Given the description of an element on the screen output the (x, y) to click on. 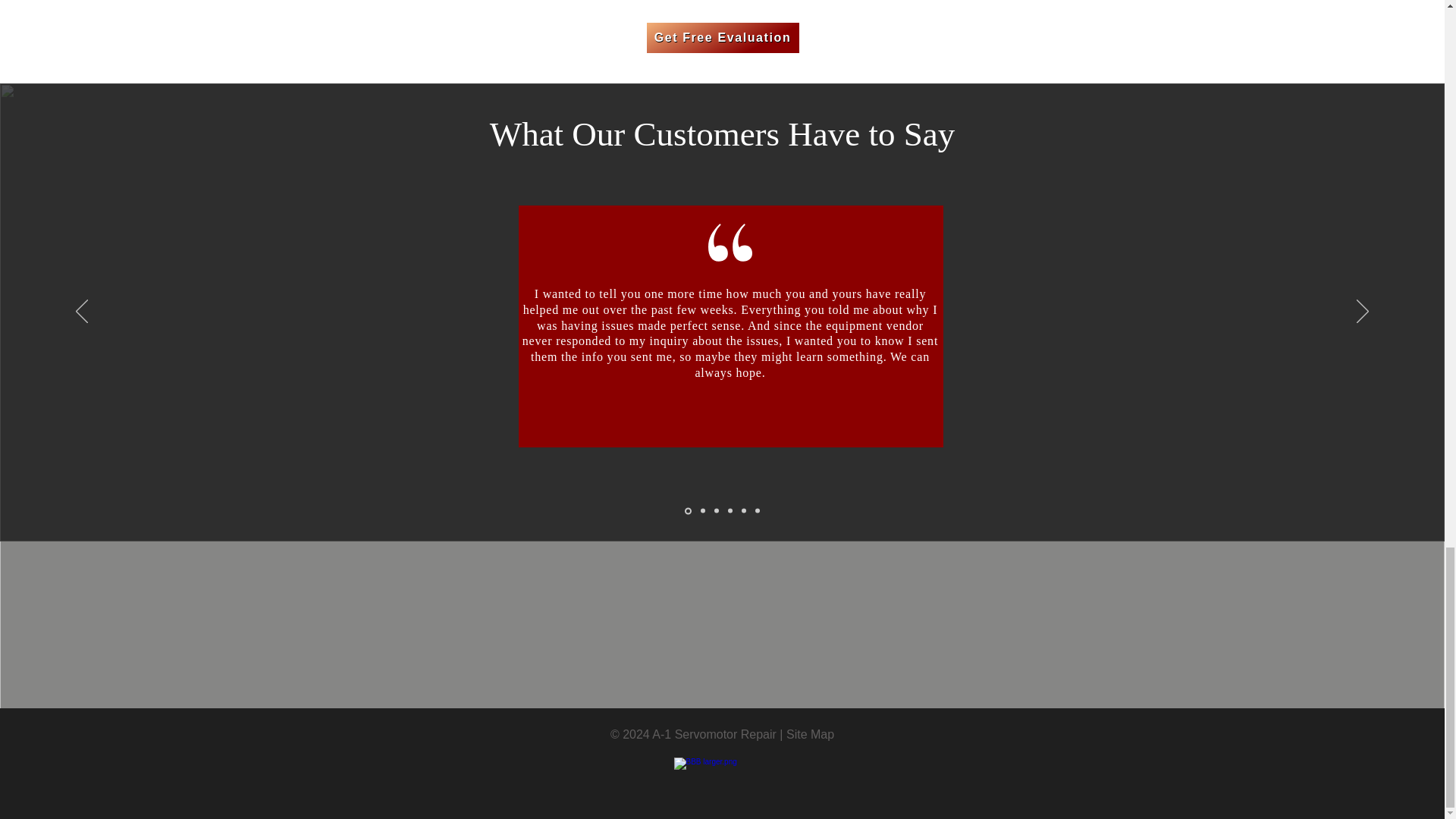
Site Map (810, 734)
Get Free Evaluation (721, 37)
